Given the description of an element on the screen output the (x, y) to click on. 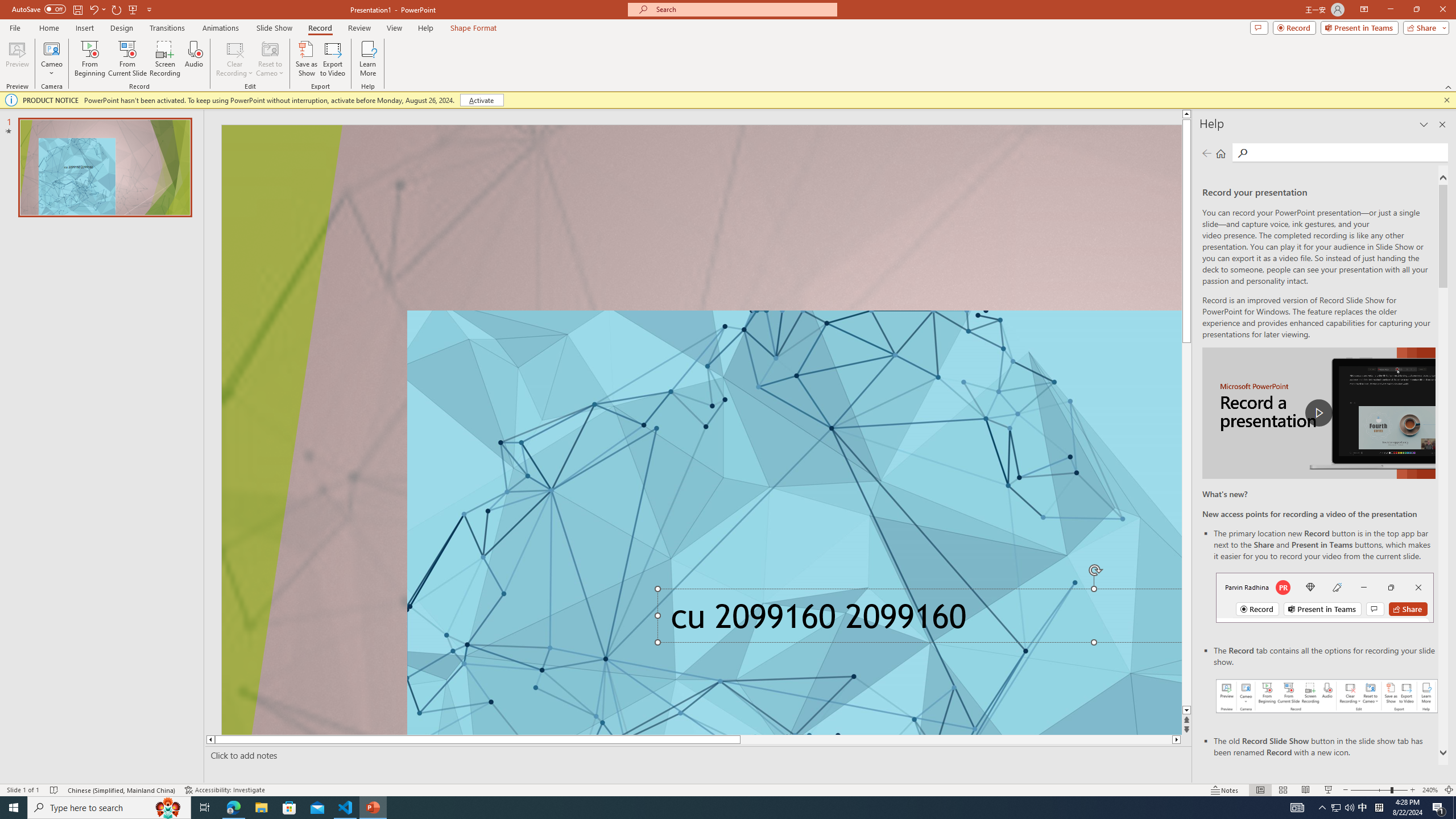
Accessibility Checker Accessibility: Investigate (226, 790)
Slide Notes (696, 755)
Reset to Cameo (269, 58)
File Tab (15, 27)
Minimize (1390, 9)
Animations (220, 28)
Learn More (368, 58)
Screen Recording (165, 58)
Shape Format (473, 28)
Zoom (1379, 790)
Class: MsoCommandBar (728, 789)
Normal (1260, 790)
Preview (17, 58)
Spell Check No Errors (54, 790)
